Given the description of an element on the screen output the (x, y) to click on. 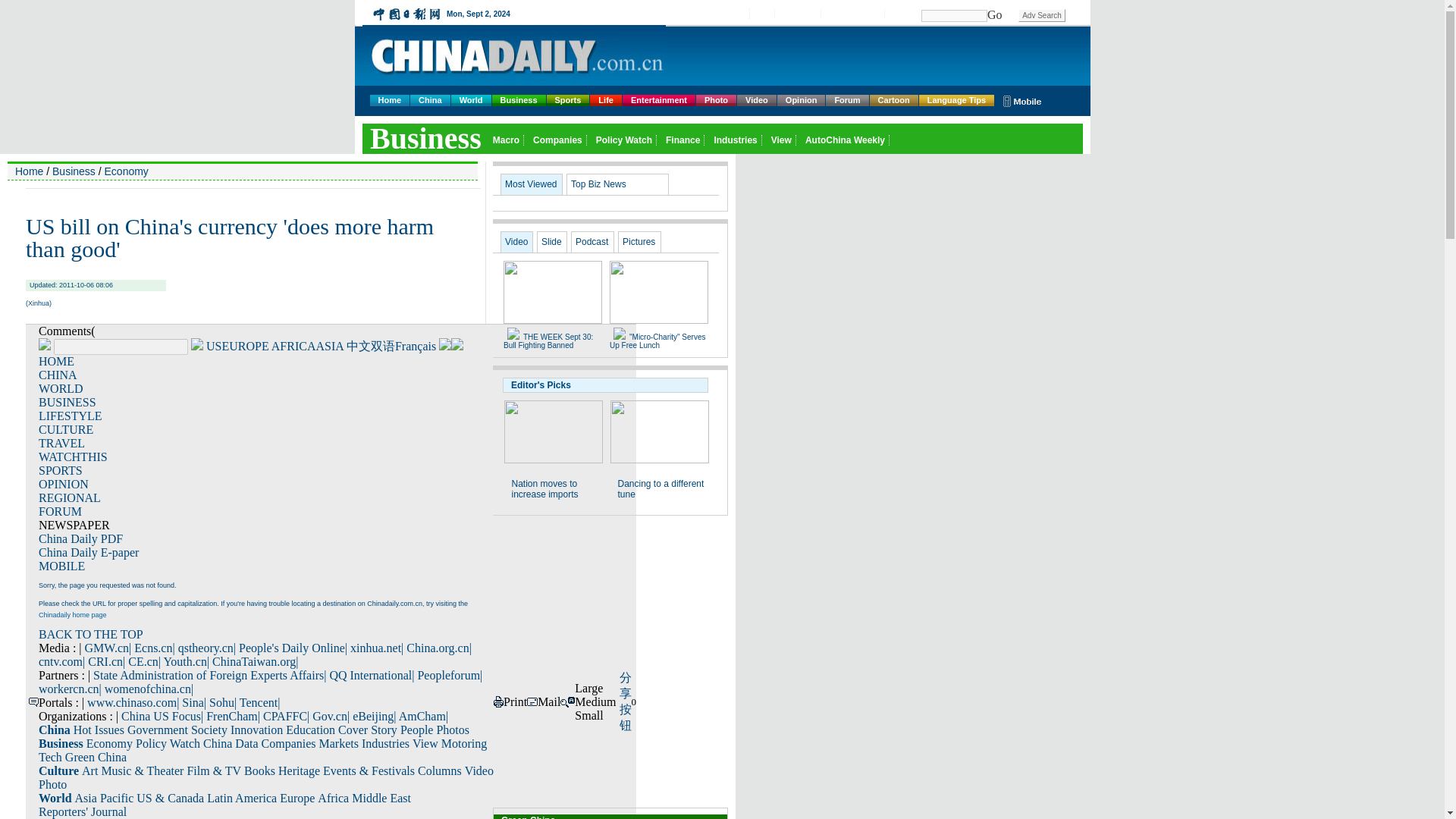
Life (605, 100)
Home (389, 100)
Business (519, 100)
Sports (568, 100)
China (429, 100)
World (471, 100)
